Given the description of an element on the screen output the (x, y) to click on. 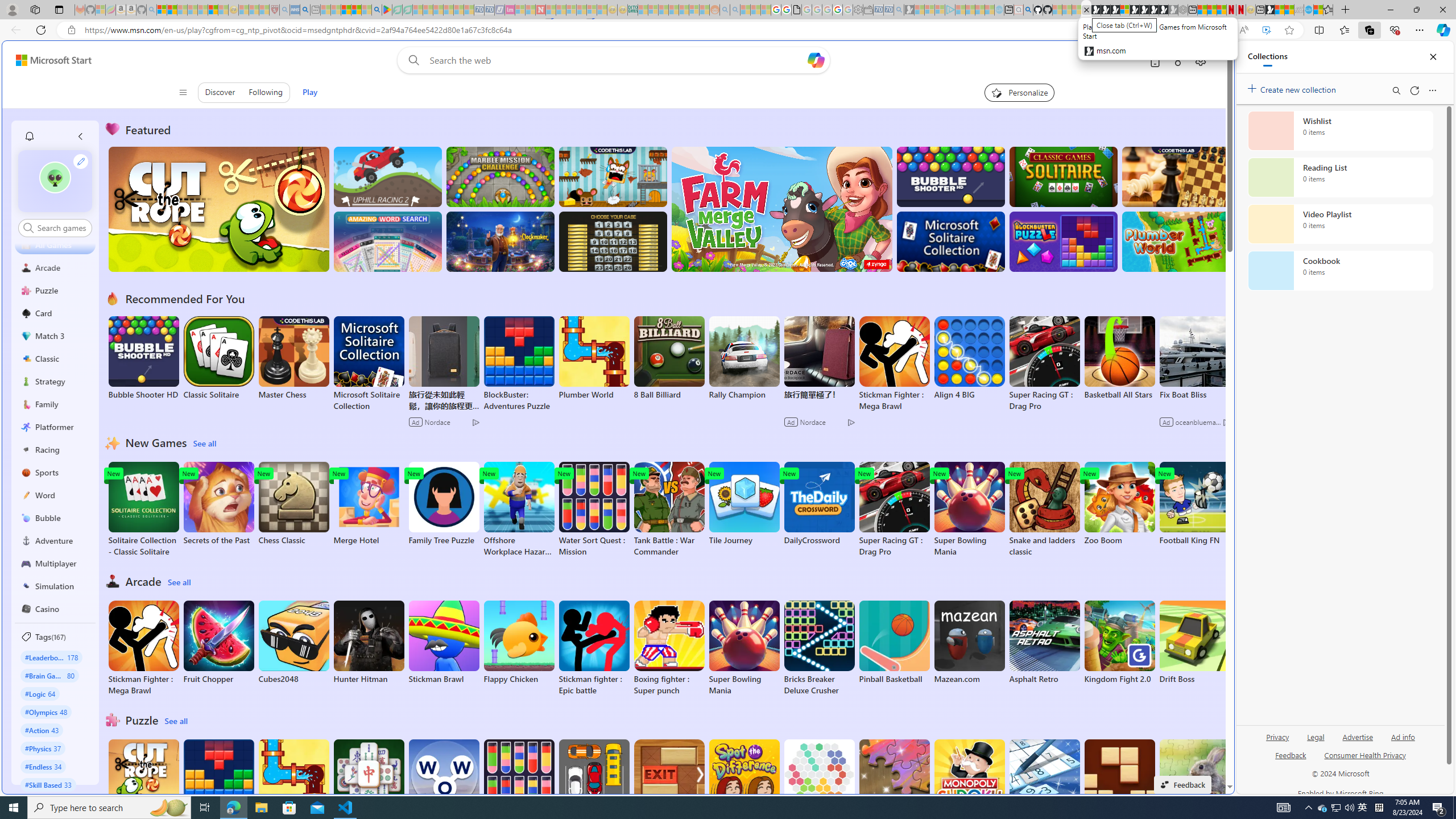
Create new collection (1293, 87)
App available. Install Games from Microsoft Start (1220, 29)
#Skill Based 33 (47, 784)
